Given the description of an element on the screen output the (x, y) to click on. 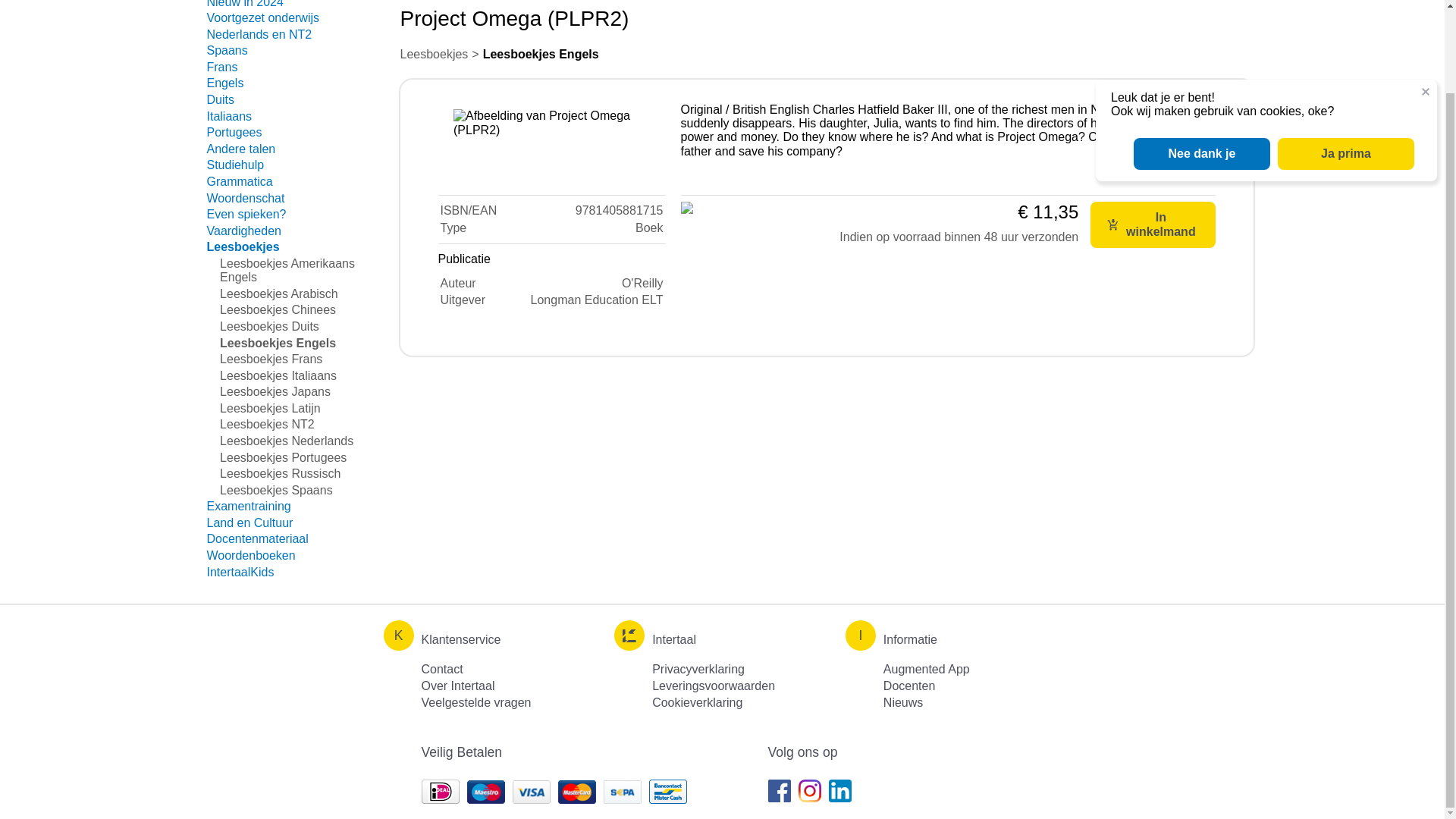
Leesboekjes Japans (274, 391)
Andere talen (240, 148)
Woordenschat (244, 197)
Nederlands en NT2 (258, 33)
Nieuw in 2024 (244, 4)
Frans (221, 66)
Even spieken? (245, 214)
Duits (219, 99)
Voortgezet onderwijs (262, 17)
Grammatica (239, 181)
